Given the description of an element on the screen output the (x, y) to click on. 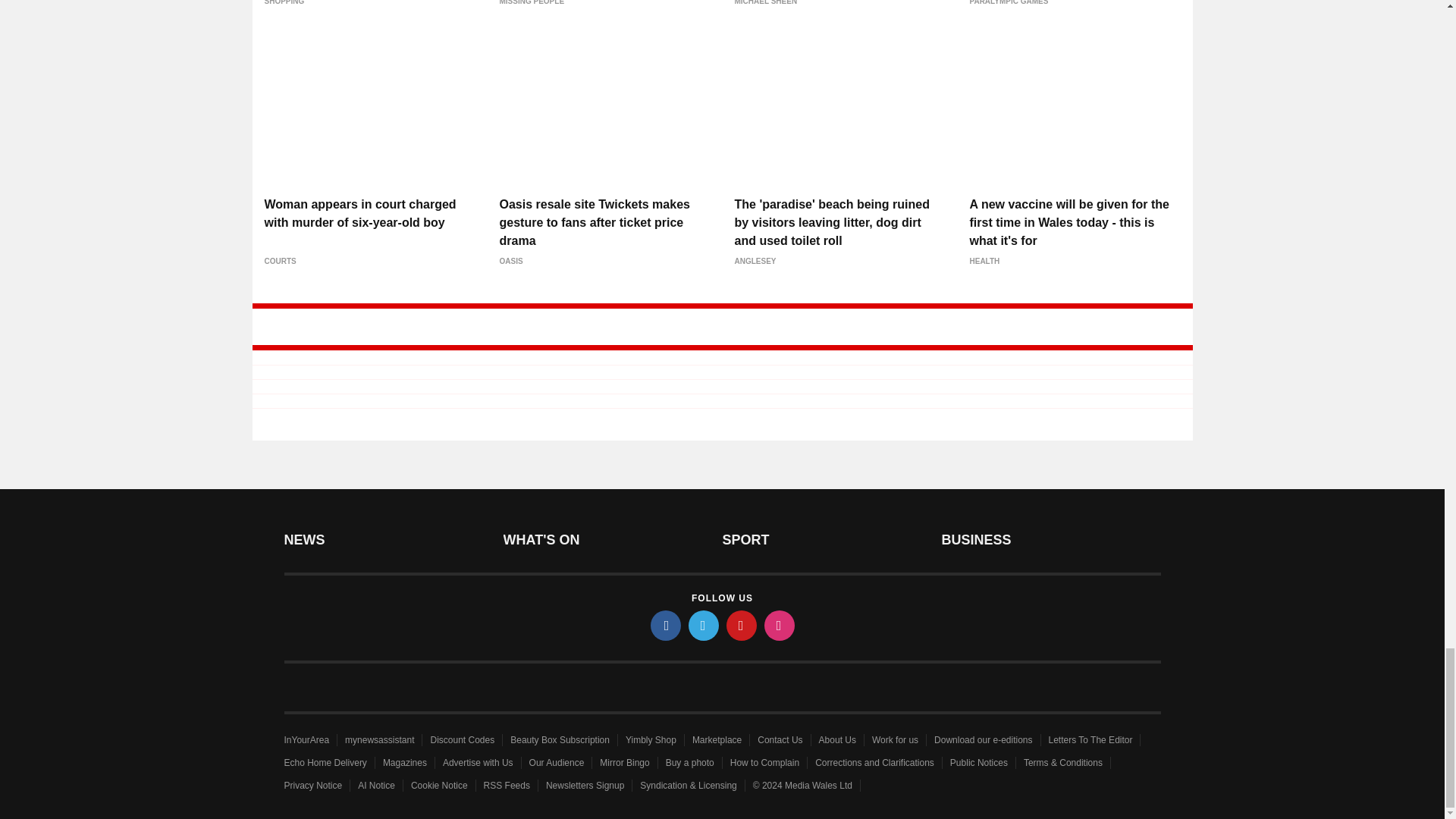
instagram (779, 625)
facebook (665, 625)
pinterest (741, 625)
twitter (703, 625)
